Given the description of an element on the screen output the (x, y) to click on. 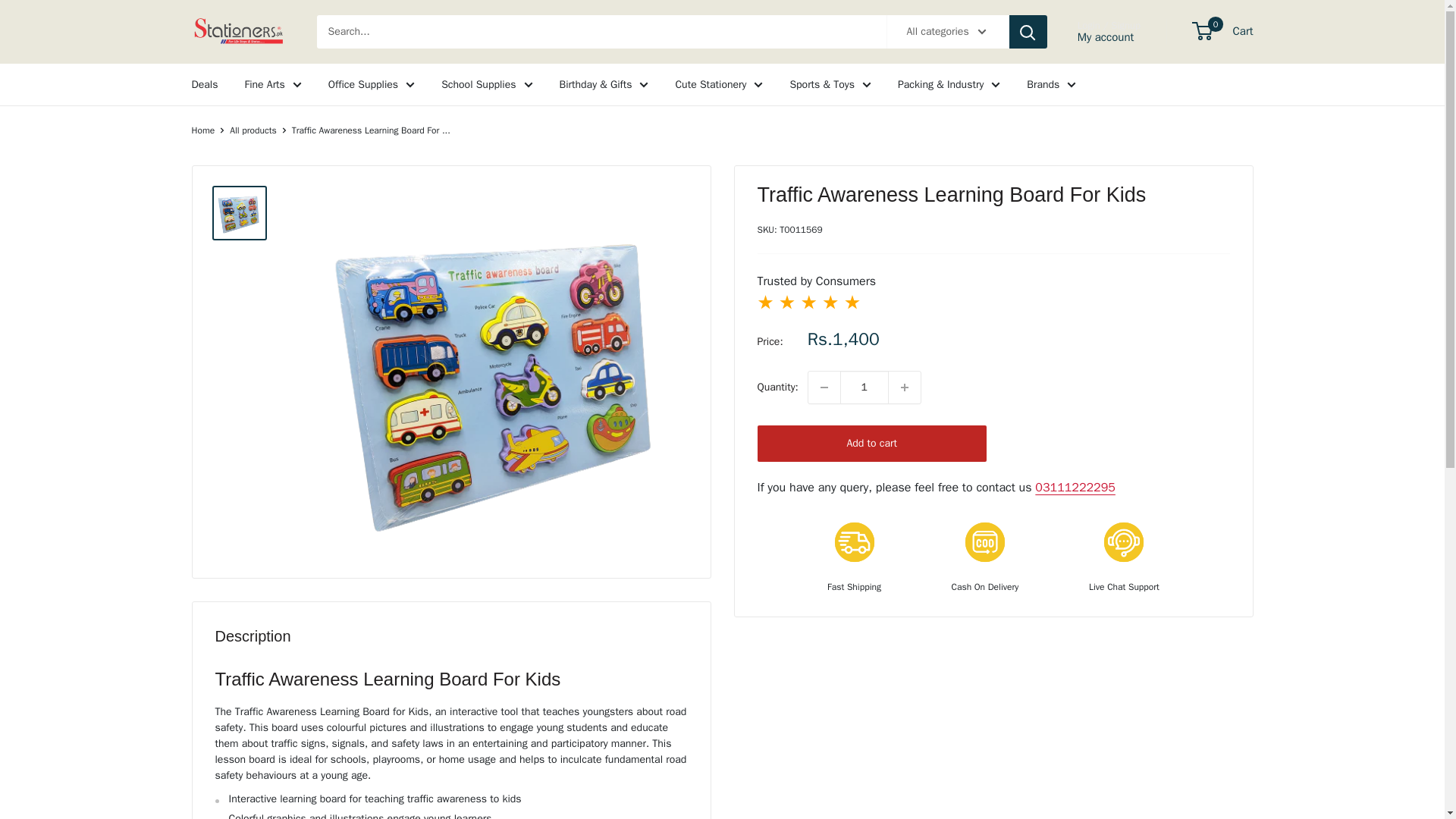
tel:03111222295 (1075, 487)
Decrease quantity by 1 (824, 387)
1 (864, 387)
Increase quantity by 1 (904, 387)
